Given the description of an element on the screen output the (x, y) to click on. 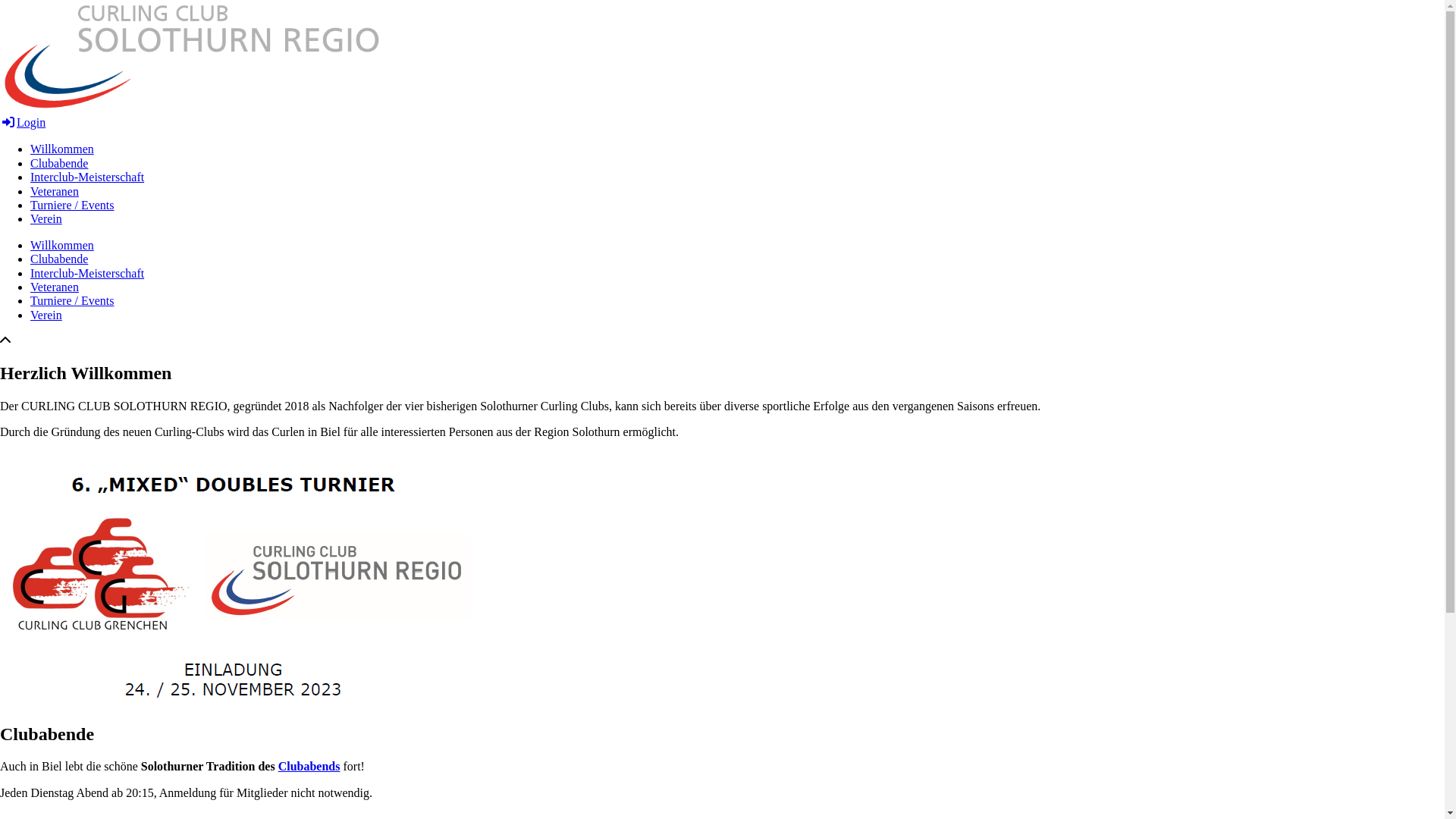
Clubabends Element type: text (309, 765)
Interclub-Meisterschaft Element type: text (87, 176)
Clubabende Element type: text (58, 162)
Turniere / Events Element type: text (72, 300)
Veteranen Element type: text (54, 191)
Verein Element type: text (46, 314)
Turniere / Events Element type: text (72, 204)
Willkommen Element type: text (62, 148)
Verein Element type: text (46, 218)
Login Element type: text (22, 122)
Interclub-Meisterschaft Element type: text (87, 272)
Clubabende Element type: text (58, 258)
Willkommen Element type: text (62, 244)
Veteranen Element type: text (54, 286)
